Given the description of an element on the screen output the (x, y) to click on. 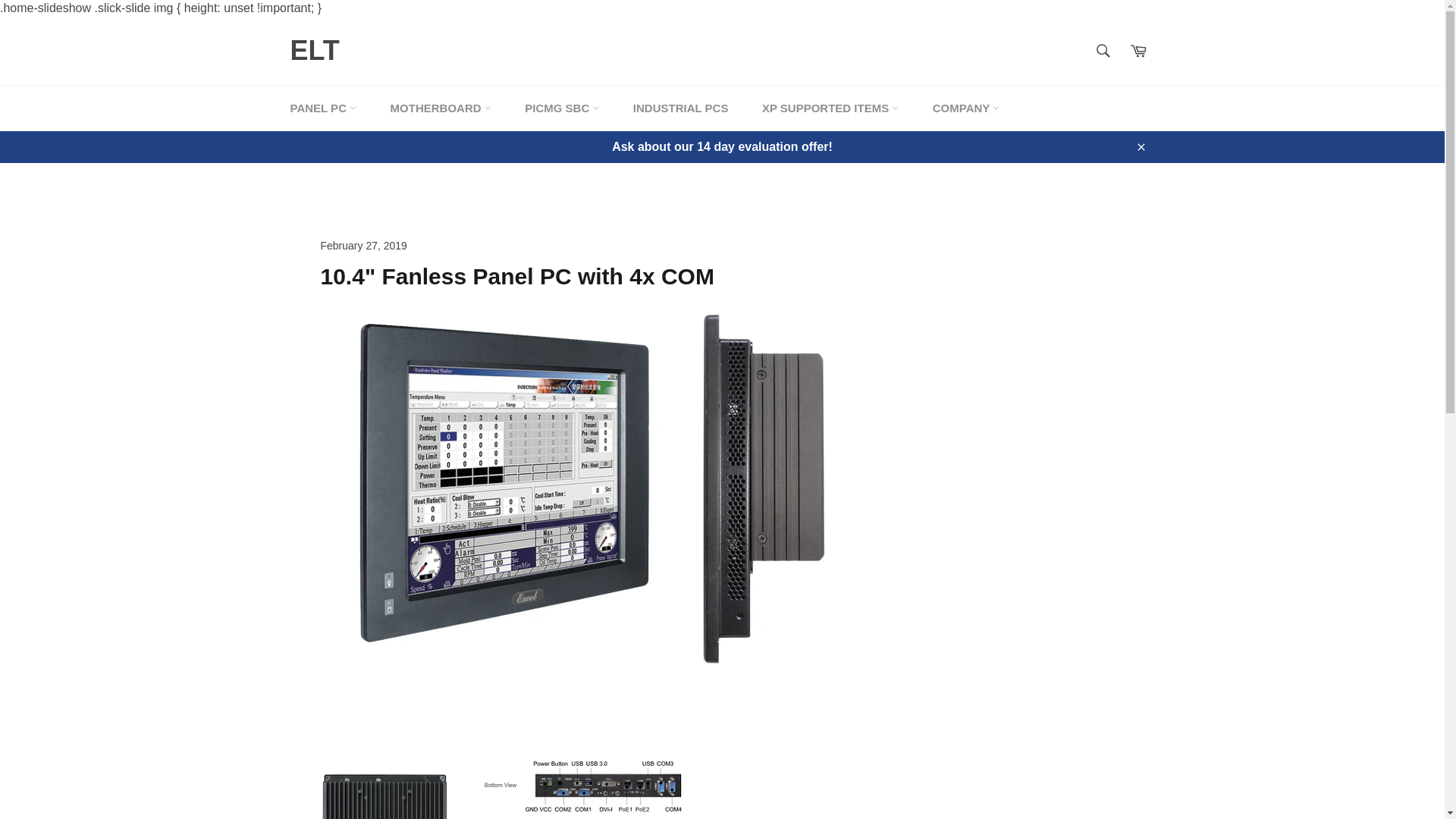
Search (1101, 50)
Cart (1138, 50)
PANEL PC (323, 108)
ELT (314, 50)
